Given the description of an element on the screen output the (x, y) to click on. 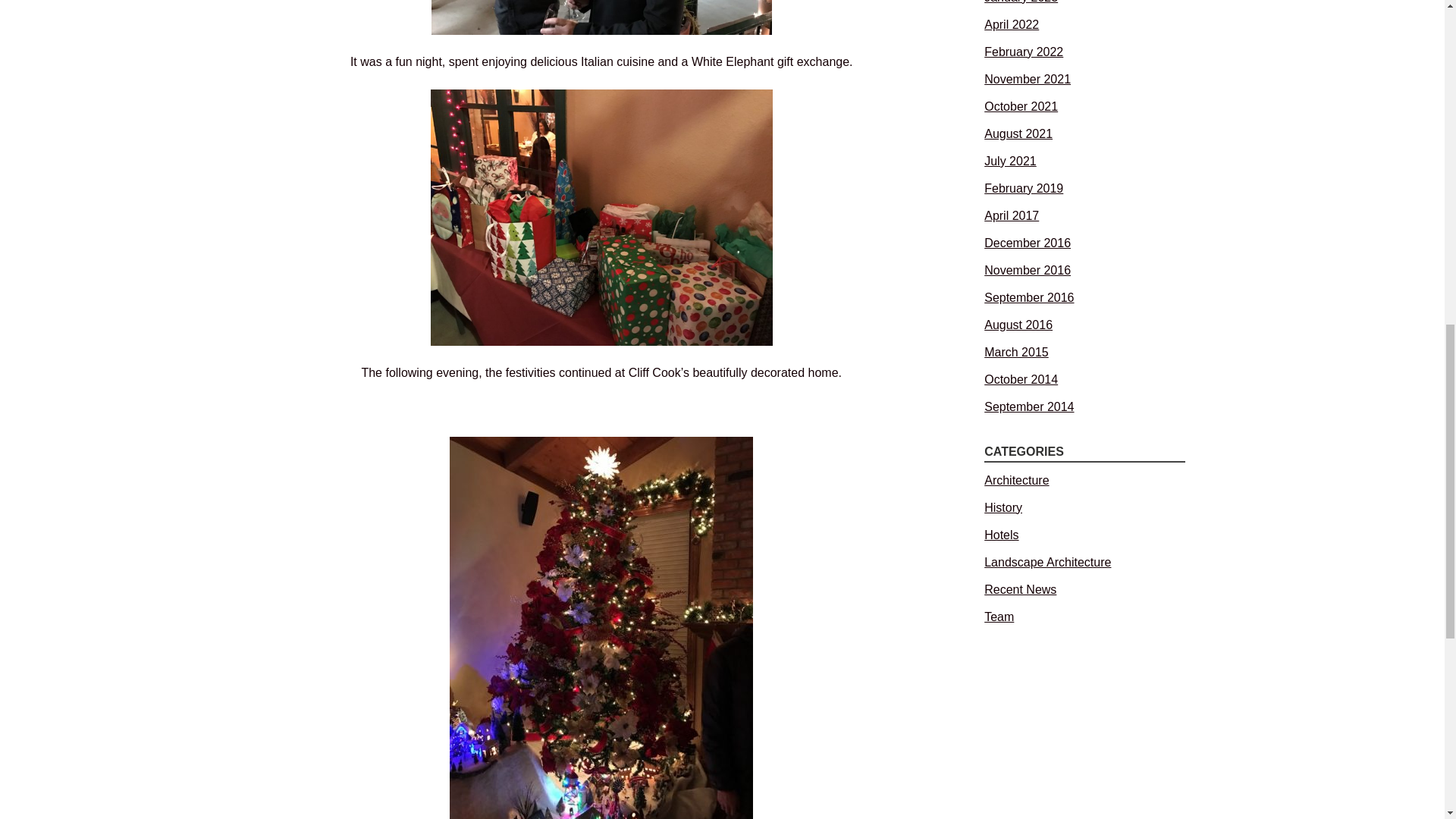
October 2021 (1021, 106)
November 2021 (1027, 78)
January 2023 (1021, 2)
August 2021 (1018, 133)
July 2021 (1010, 160)
February 2022 (1023, 51)
April 2022 (1011, 24)
